Given the description of an element on the screen output the (x, y) to click on. 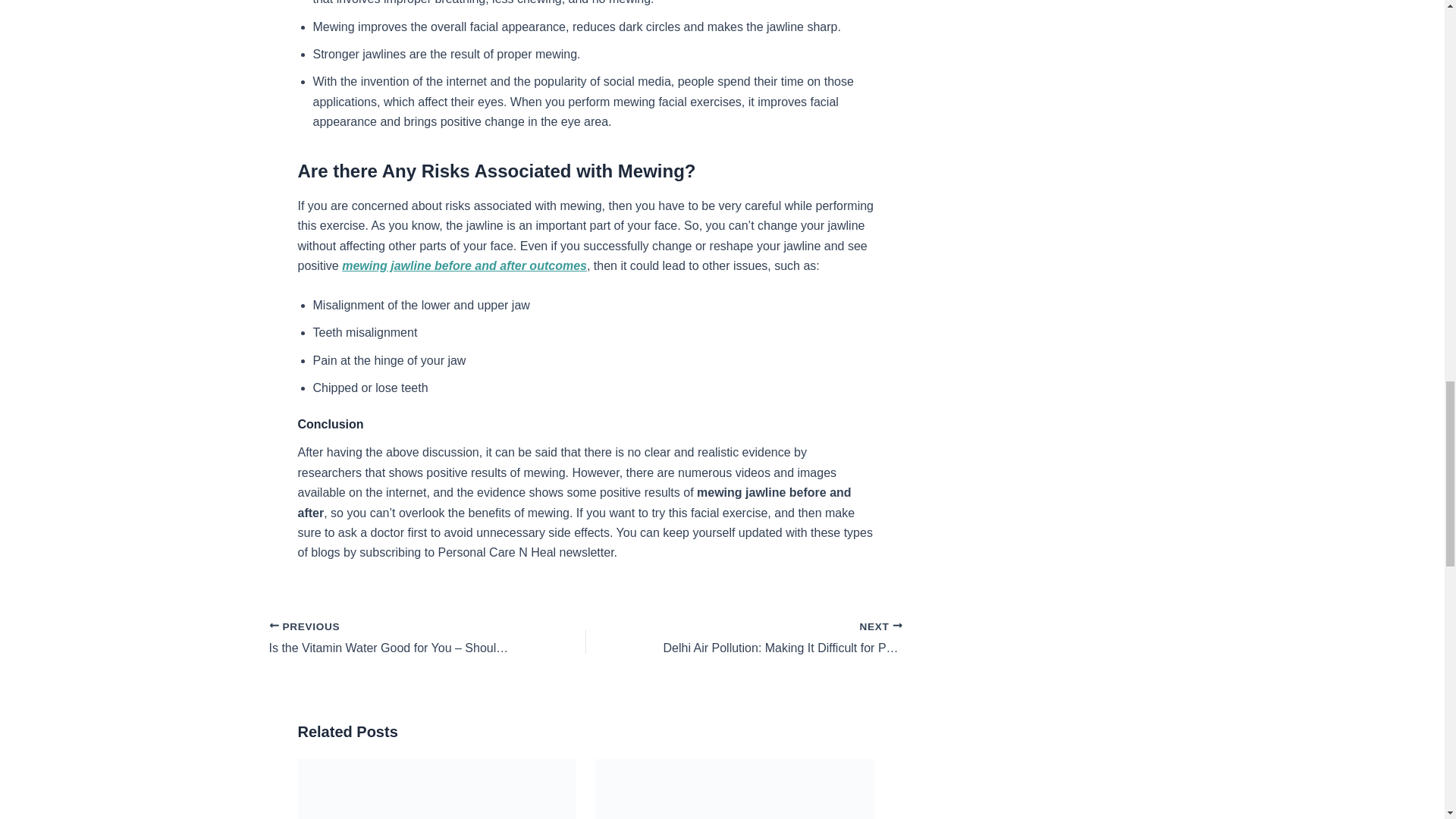
mewing jawline before and after outcomes (464, 265)
Is the Vitamin Water Good for You - Should You Drink It? (394, 639)
